Given the description of an element on the screen output the (x, y) to click on. 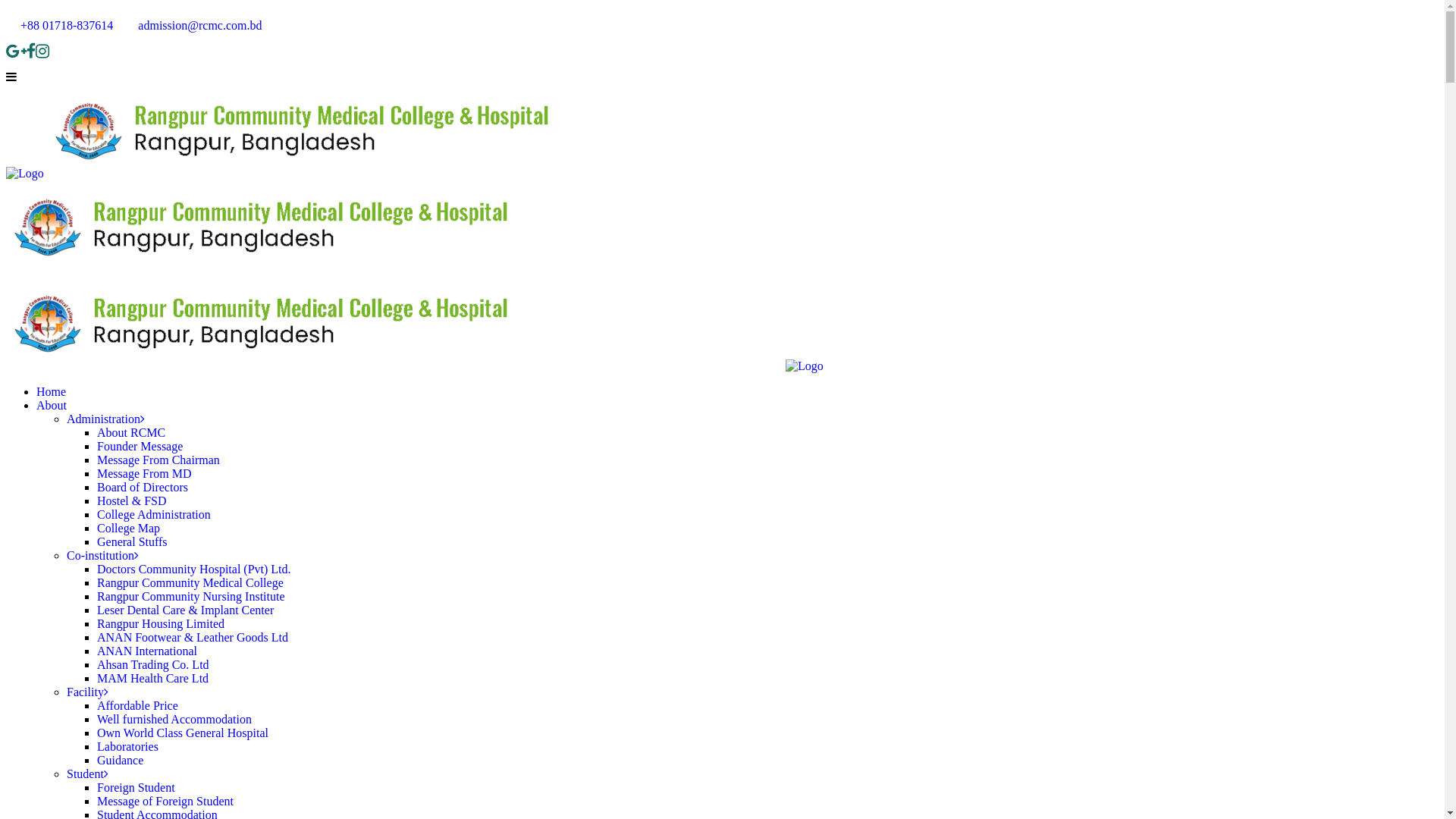
Message of Foreign Student Element type: text (165, 800)
ANAN International Element type: text (147, 650)
Ahsan Trading Co. Ltd Element type: text (153, 664)
Guidance Element type: text (120, 759)
Well furnished Accommodation Element type: text (174, 718)
About Element type: text (51, 404)
ANAN Footwear & Leather Goods Ltd Element type: text (192, 636)
admission@rcmc.com.bd Element type: text (192, 24)
Facility Element type: text (87, 691)
Administration Element type: text (105, 418)
General Stuffs Element type: text (132, 541)
Home Element type: text (50, 391)
Doctors Community Hospital (Pvt) Ltd. Element type: text (194, 568)
MAM Health Care Ltd Element type: text (152, 677)
Hostel & FSD Element type: text (131, 500)
Own World Class General Hospital Element type: text (182, 732)
Student Element type: text (87, 773)
Board of Directors Element type: text (142, 486)
Leser Dental Care & Implant Center Element type: text (185, 609)
Message From MD Element type: text (144, 473)
College Map Element type: text (128, 527)
Rangpur Housing Limited Element type: text (160, 623)
About RCMC Element type: text (131, 432)
Message From Chairman Element type: text (158, 459)
Laboratories Element type: text (127, 746)
College Administration Element type: text (153, 514)
+88 01718-837614 Element type: text (60, 24)
Affordable Price Element type: text (137, 705)
Rangpur Community Nursing Institute Element type: text (191, 595)
Rangpur Community Medical College Element type: text (190, 582)
Foreign Student Element type: text (136, 787)
Founder Message Element type: text (139, 445)
Co-institution Element type: text (102, 555)
